Given the description of an element on the screen output the (x, y) to click on. 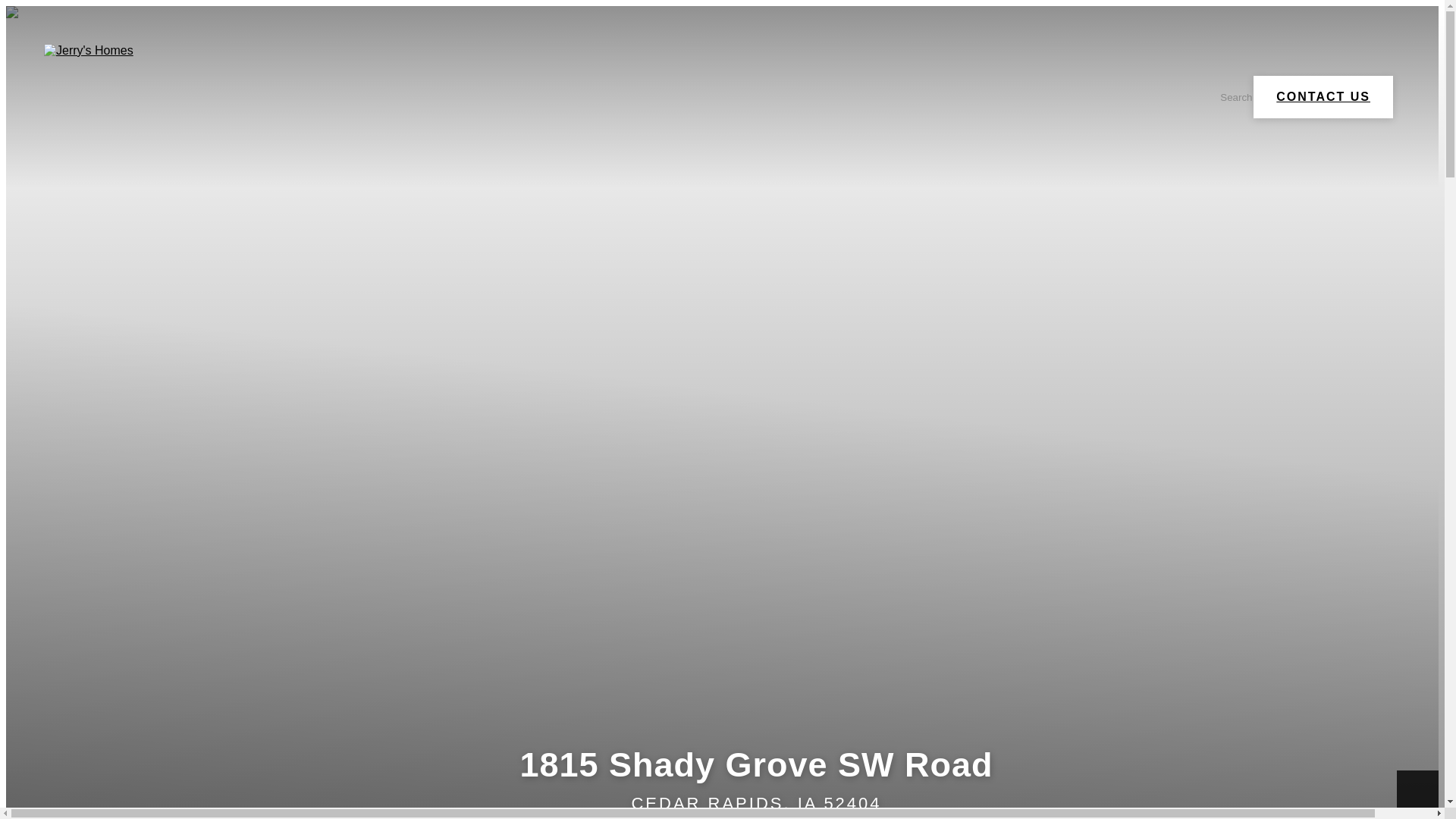
Search (1227, 96)
CONTACT US (1323, 96)
